Given the description of an element on the screen output the (x, y) to click on. 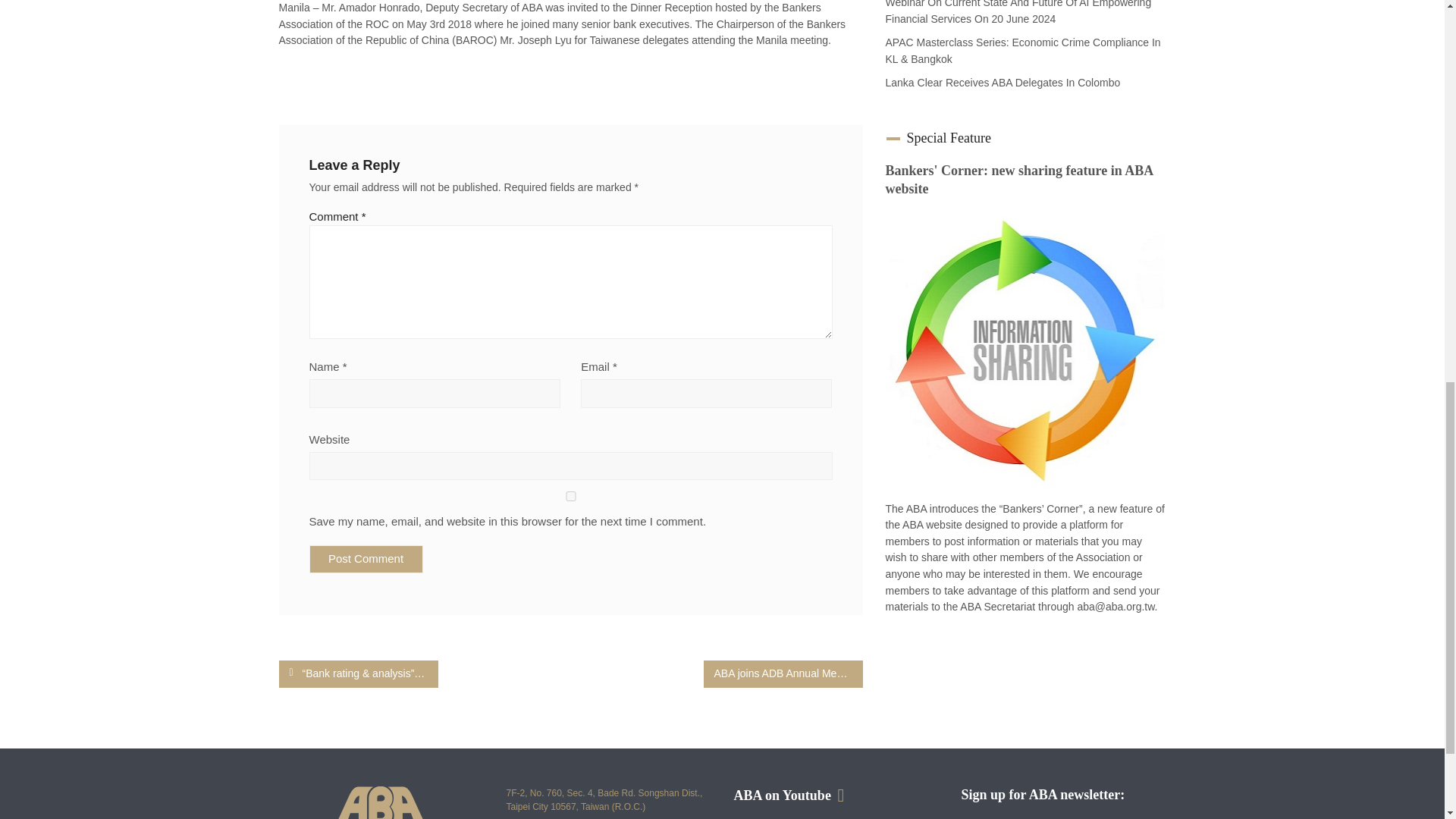
Post Comment (365, 559)
Post Comment (365, 559)
ABA joins ADB Annual Meeting in Manila (783, 673)
yes (570, 496)
